Given the description of an element on the screen output the (x, y) to click on. 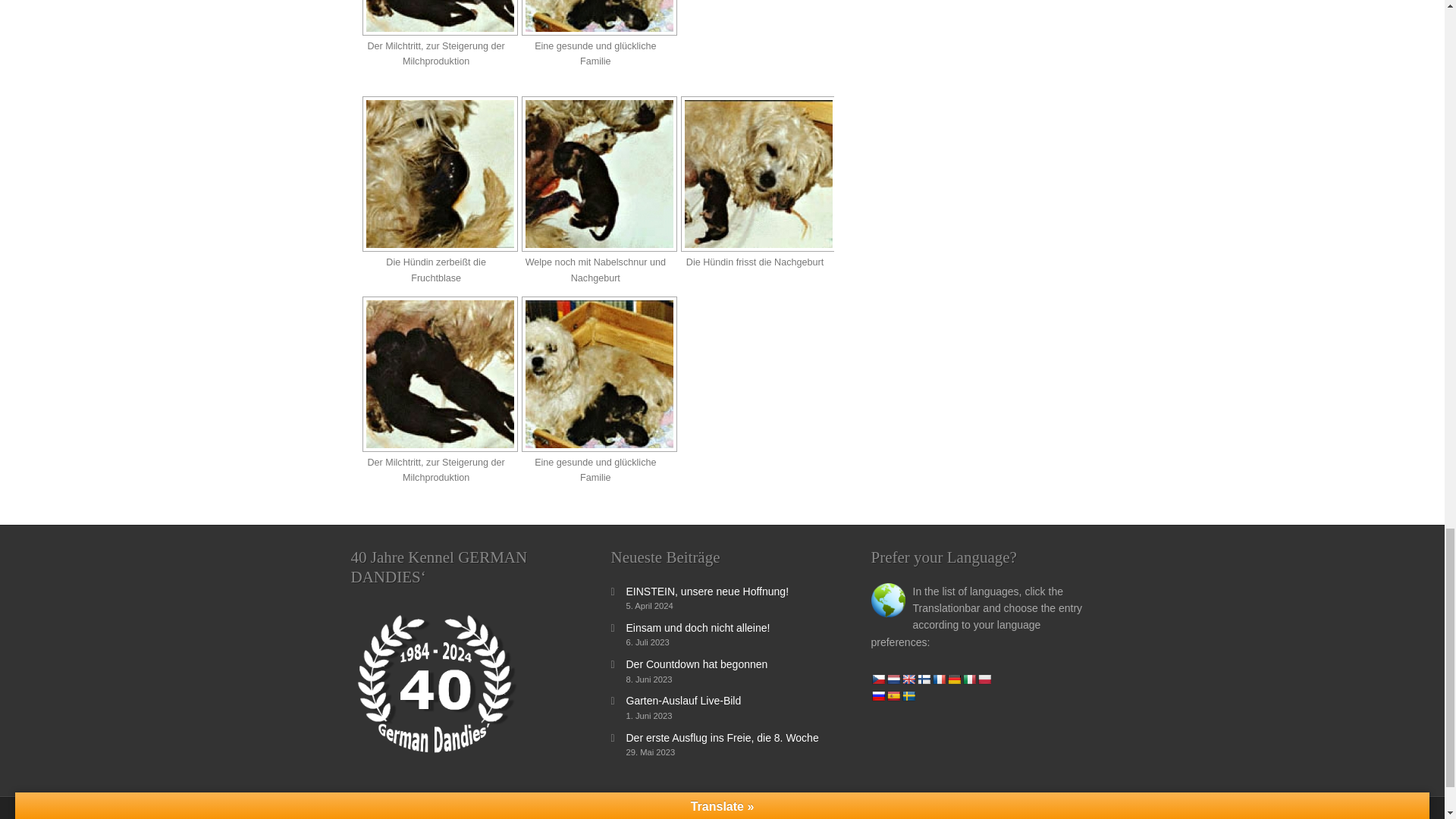
Bild 1 (440, 173)
Bild 2 (599, 173)
Der Milchtritt, zur Steigerung der Milchproduktion (433, 374)
Der Milchtritt, zur Steigerung der Milchproduktion (433, 18)
Bild 5 (599, 18)
Welpe noch mit Nabelschnur und Nachgeburt (593, 173)
Bild 3 (758, 173)
Bild 4 (440, 18)
